Given the description of an element on the screen output the (x, y) to click on. 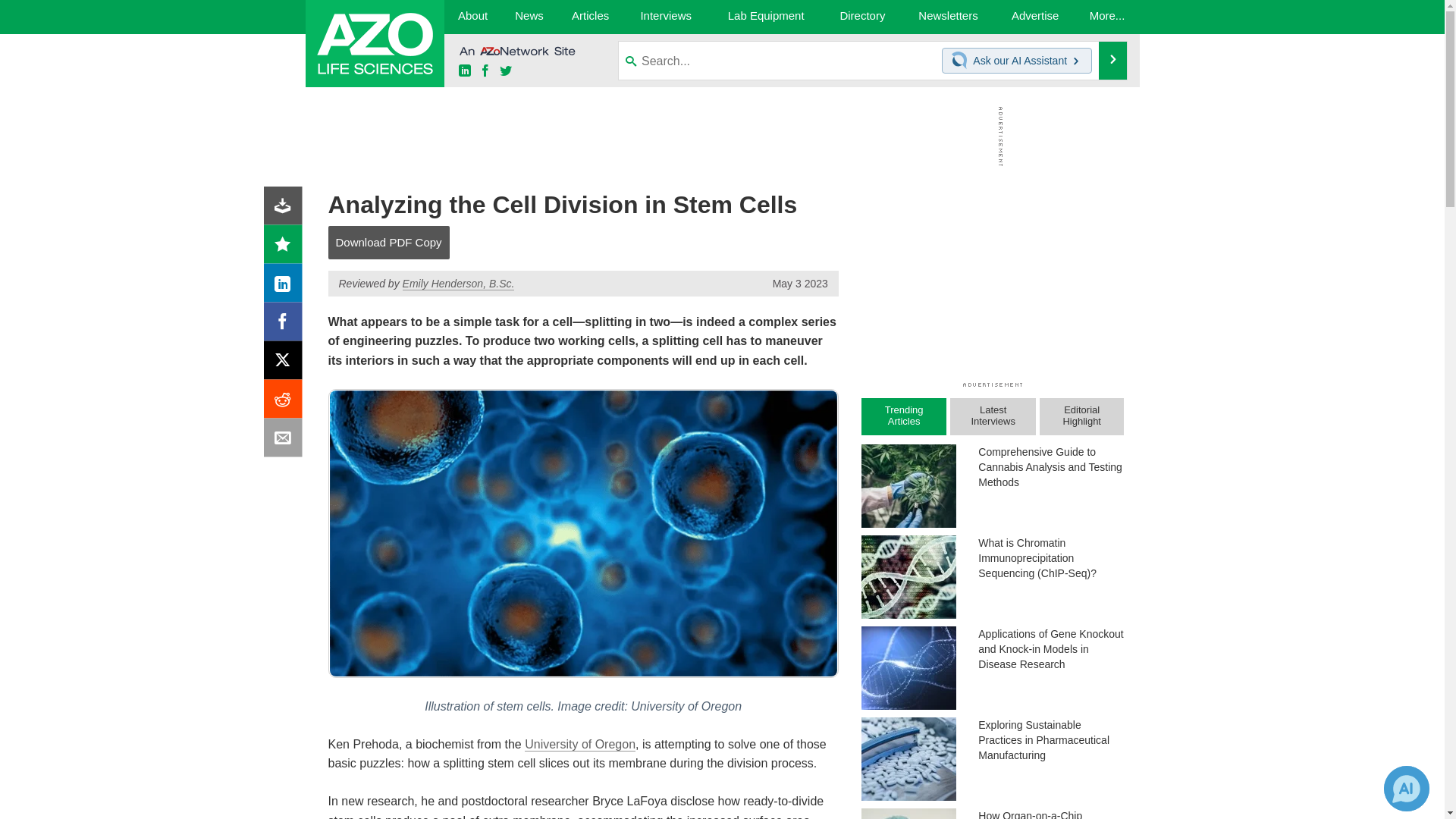
Directory (862, 17)
Chat with our AI Assistant (962, 60)
Advertise (1035, 17)
Interviews (665, 17)
Email (285, 441)
News (528, 17)
Reddit (285, 402)
Facebook (285, 324)
X (285, 363)
Rating (285, 247)
Download PDF copy (285, 208)
More... (1107, 17)
Articles (590, 17)
LinkedIn (285, 286)
